Given the description of an element on the screen output the (x, y) to click on. 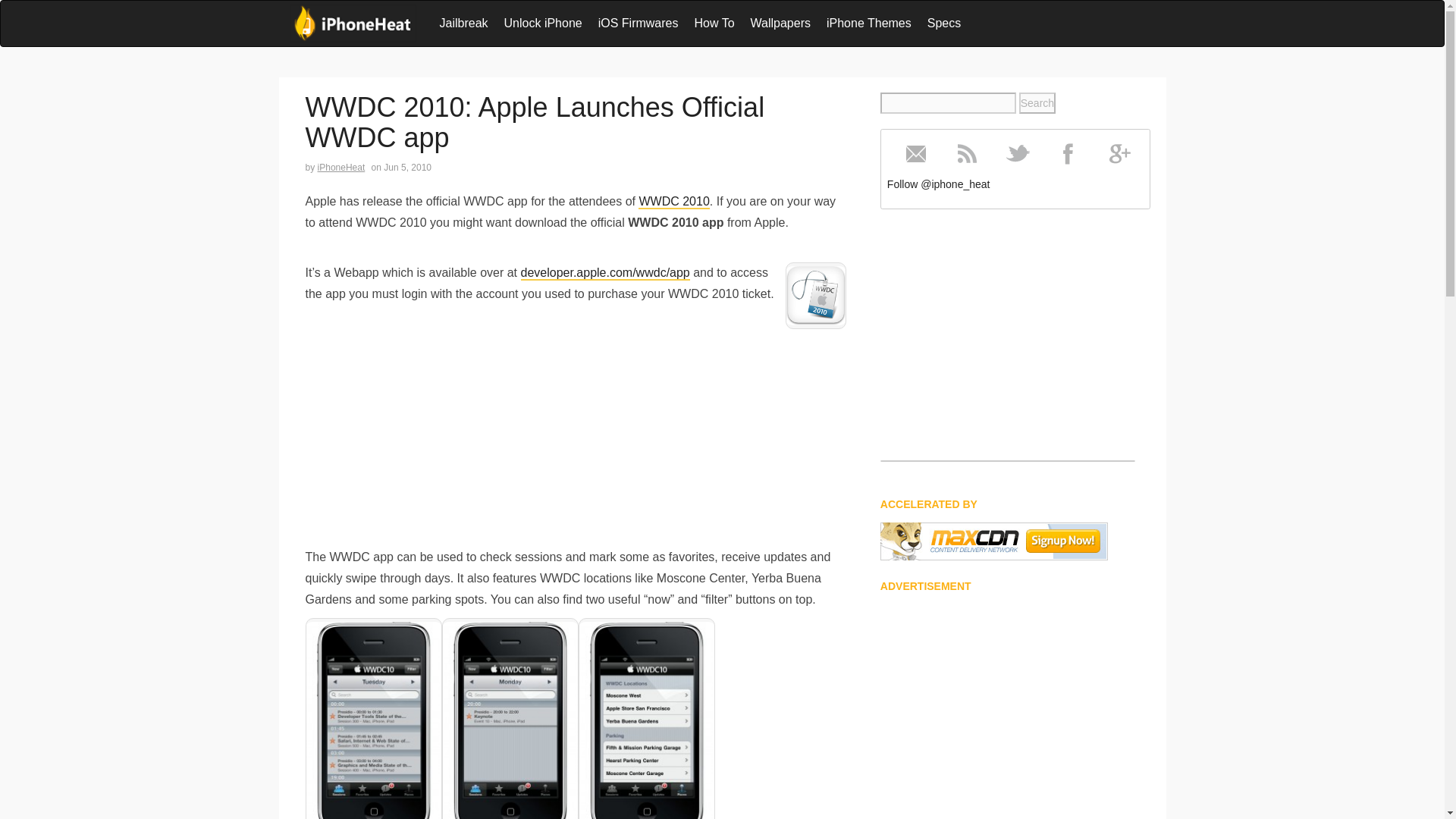
Unlock iPhone (542, 22)
WWDC 2010 (674, 201)
How To (713, 22)
Search (1037, 102)
iPhoneHeat (351, 23)
WWDC 2010: Apple Launches Official WWDC app (534, 122)
Jailbreak (464, 22)
iOS Firmwares (638, 22)
iPhoneHeat (341, 167)
iPhone Themes (868, 22)
Wallpapers (780, 22)
Specs (944, 22)
